Given the description of an element on the screen output the (x, y) to click on. 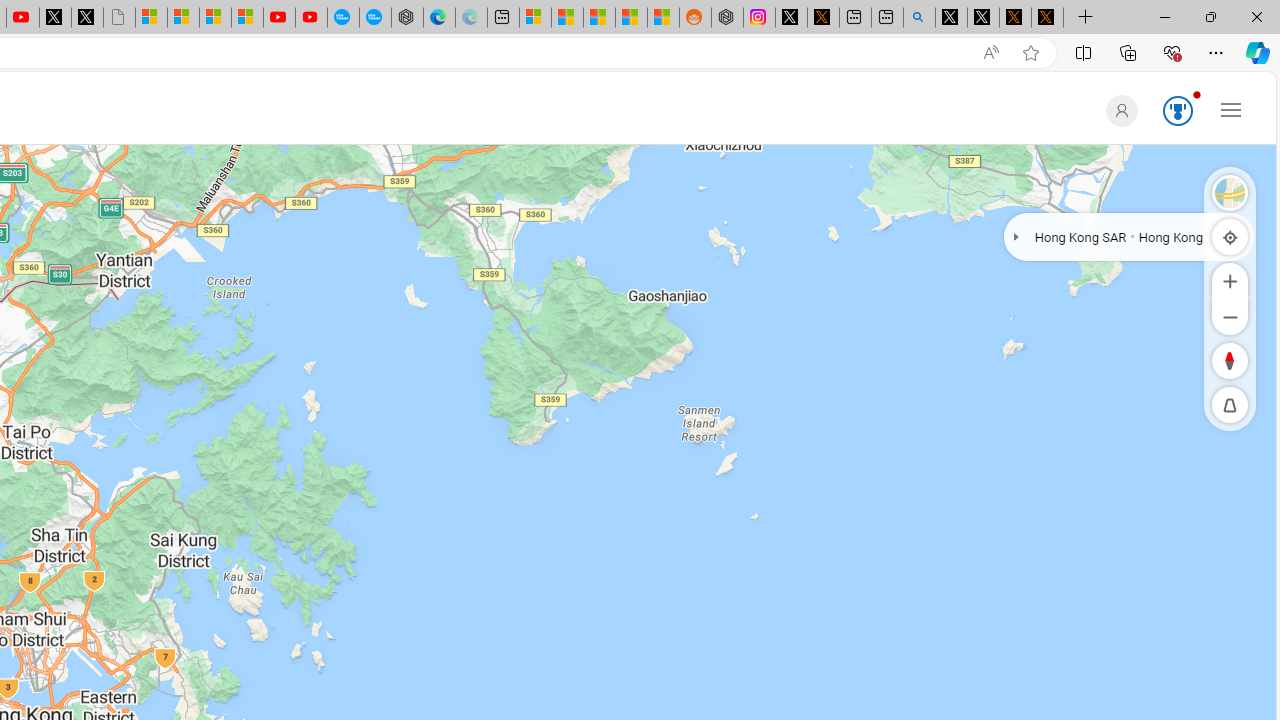
Reset to Default Pitch (1230, 405)
Road (1230, 192)
Streetside (1230, 192)
Locate me (1230, 236)
Microsoft Rewards 153 (1174, 111)
Profile / X (950, 17)
AutomationID: serp_medal_svg (1178, 110)
Zoom In (1230, 280)
YouTube Kids - An App Created for Kids to Explore Content (310, 17)
The most popular Google 'how to' searches (374, 17)
